Given the description of an element on the screen output the (x, y) to click on. 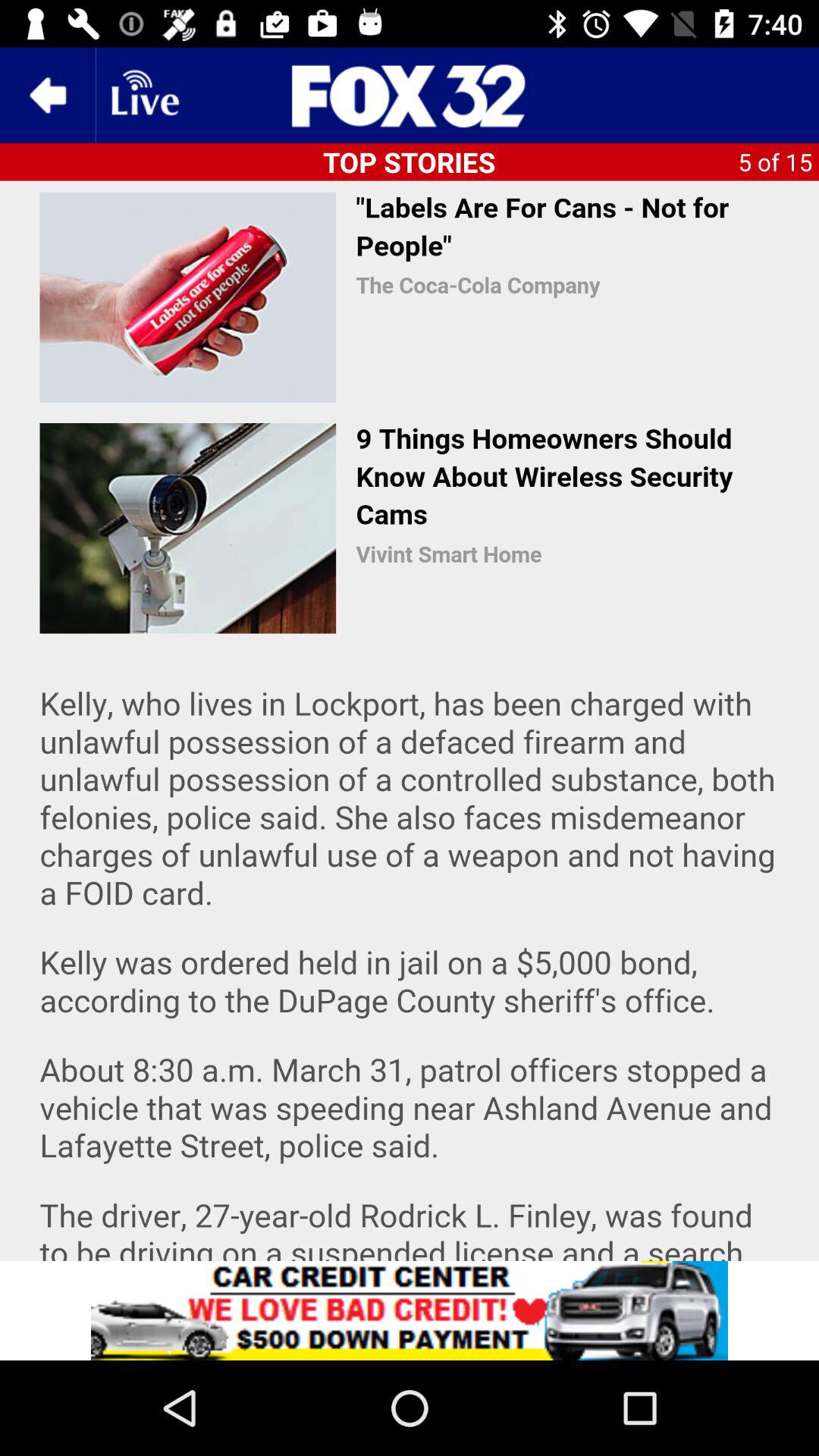
share the article (409, 95)
